Given the description of an element on the screen output the (x, y) to click on. 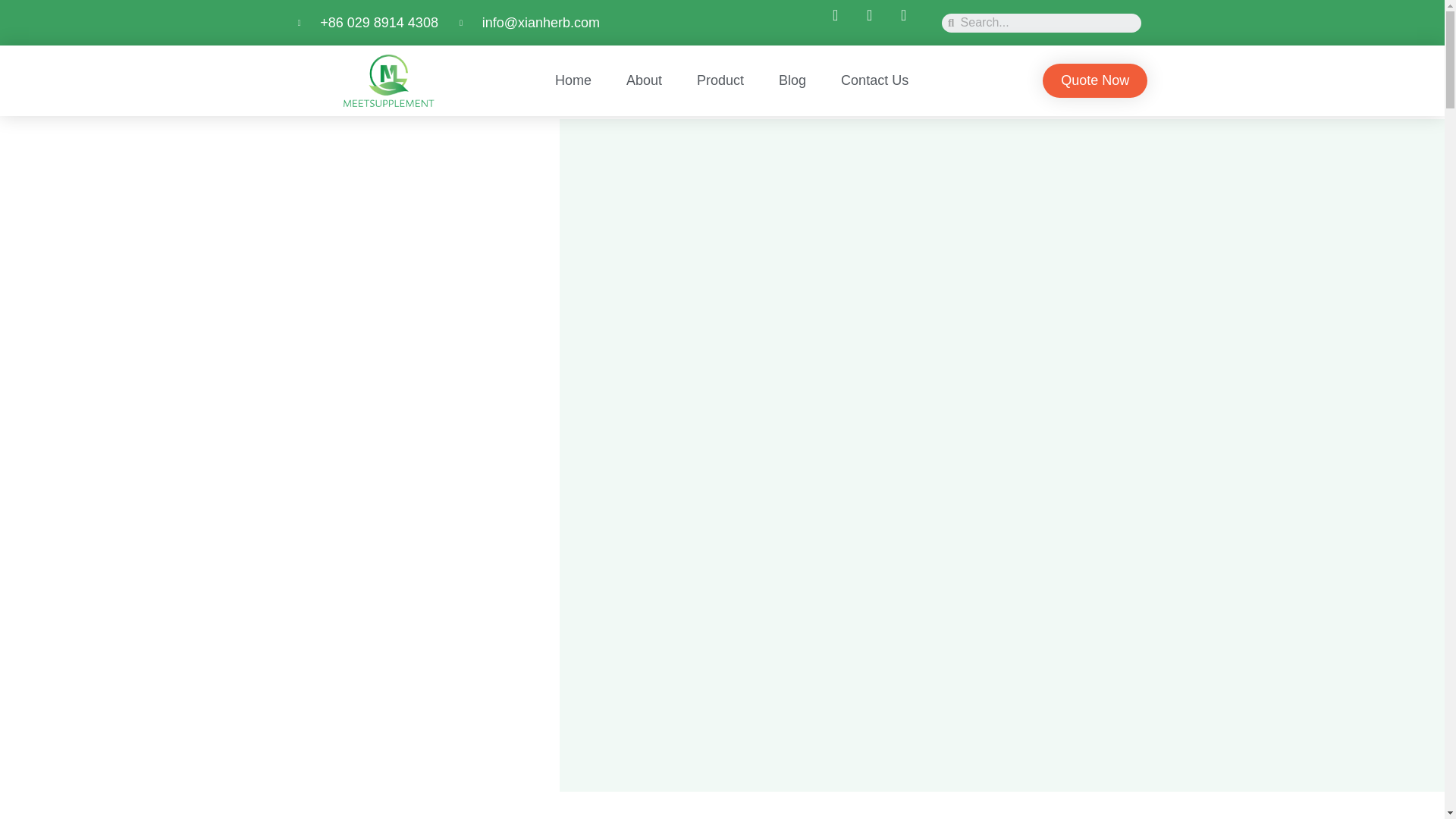
Product (719, 80)
Search (1046, 22)
Home (573, 80)
About (644, 80)
